Given the description of an element on the screen output the (x, y) to click on. 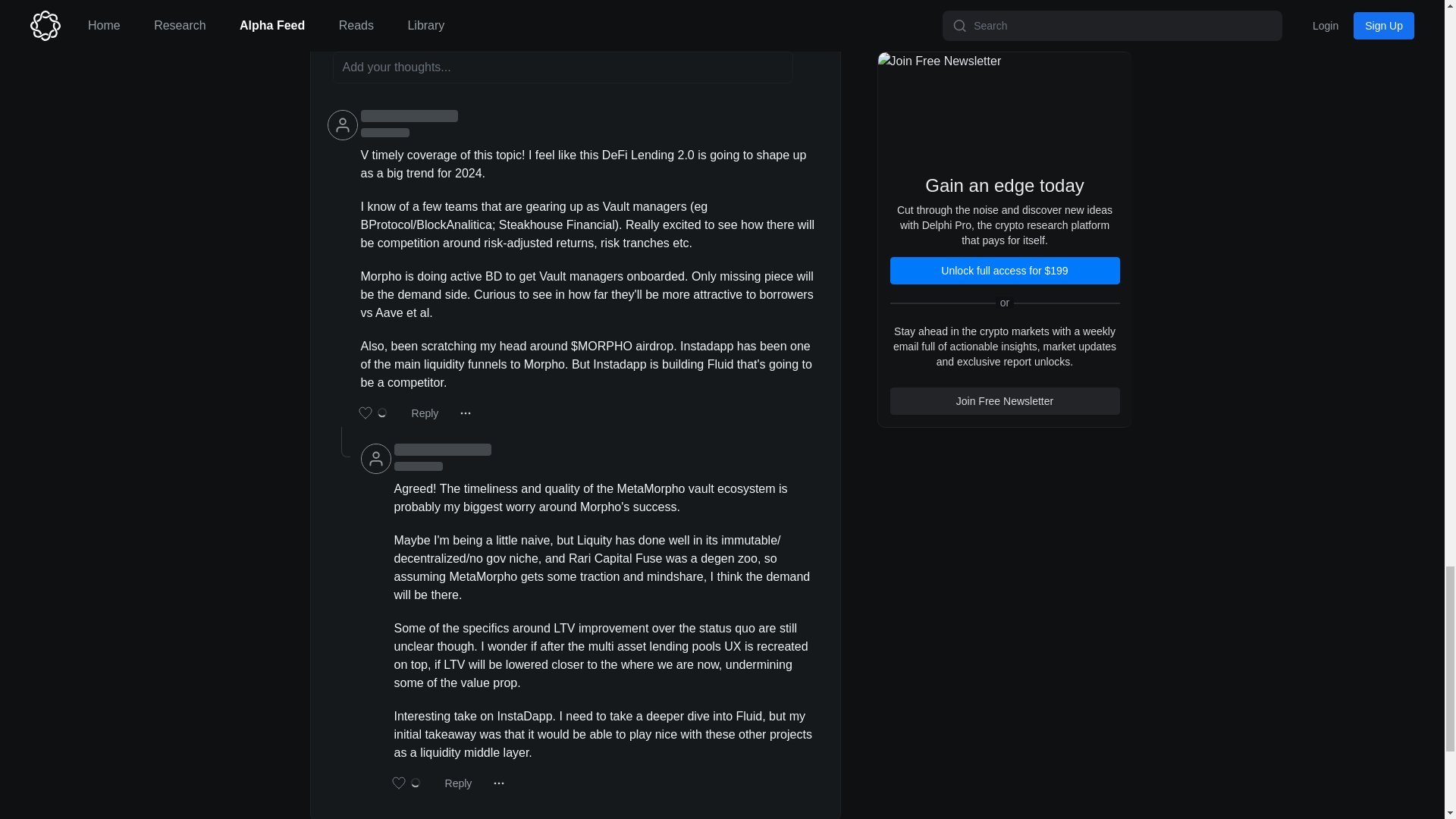
like this (406, 783)
Bearish (448, 3)
Bullish (401, 3)
like this (346, 3)
like this (373, 413)
